Given the description of an element on the screen output the (x, y) to click on. 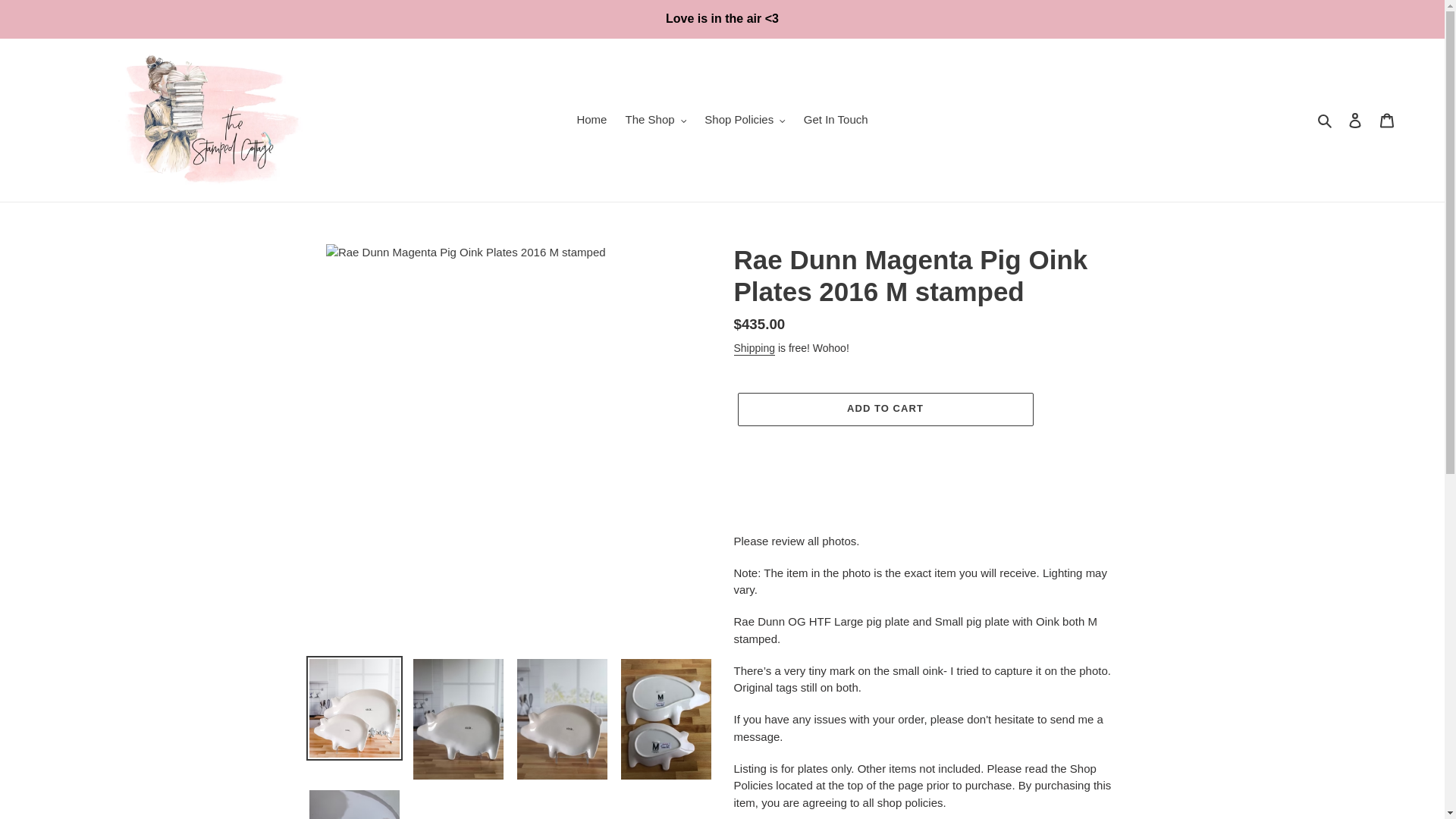
The Shop (655, 119)
Shipping (754, 348)
Home (591, 119)
Shop Policies (744, 119)
Cart (1387, 120)
Get In Touch (836, 119)
Search (1326, 119)
Log in (1355, 120)
